Given the description of an element on the screen output the (x, y) to click on. 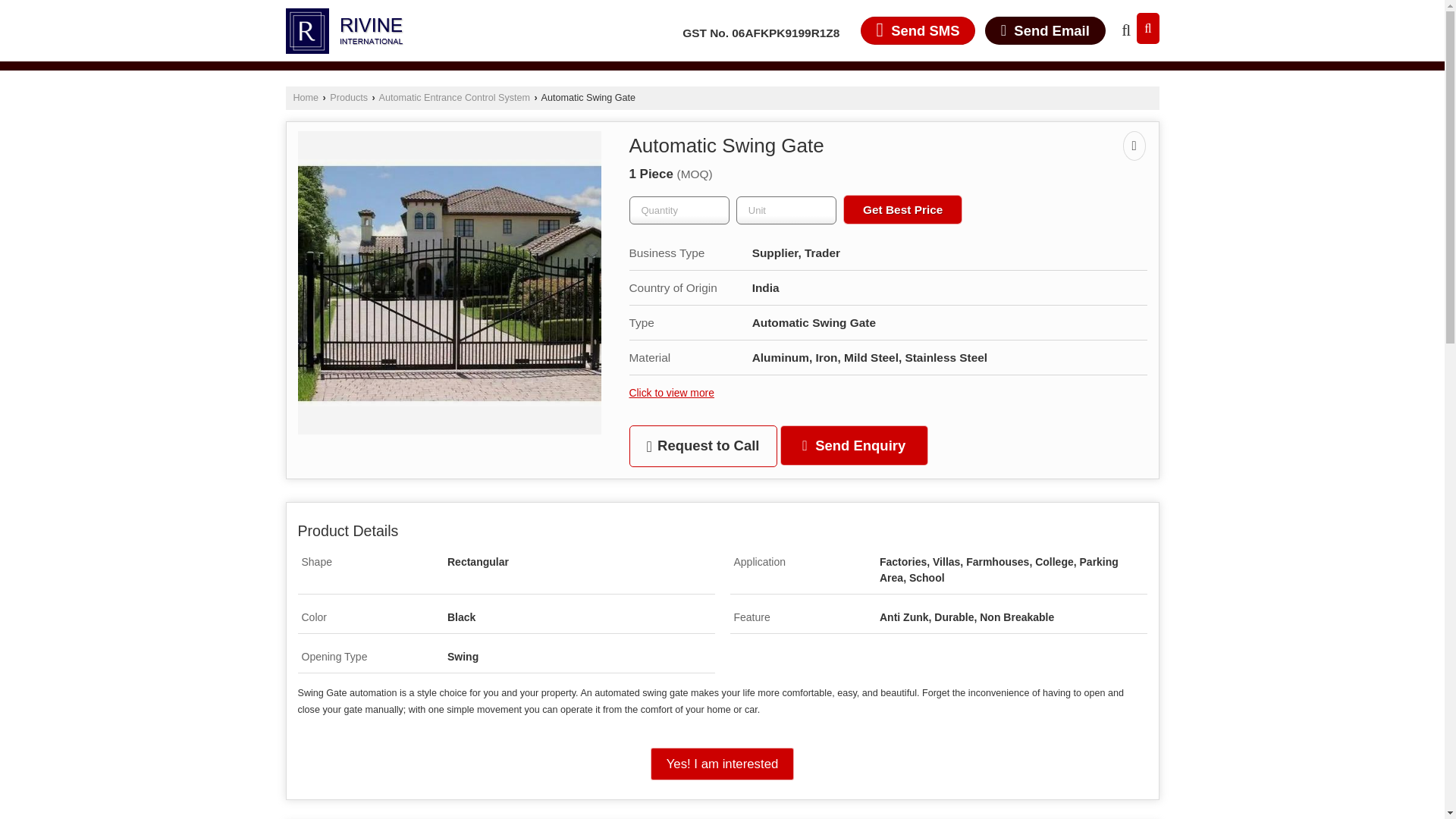
Automatic Entrance Control System (453, 97)
Rivine International (344, 30)
Home (305, 97)
Send SMS (917, 30)
Rivine International (344, 31)
Products (349, 97)
Click to view more (671, 386)
Send Email (1045, 30)
Get Best Price (902, 203)
